Given the description of an element on the screen output the (x, y) to click on. 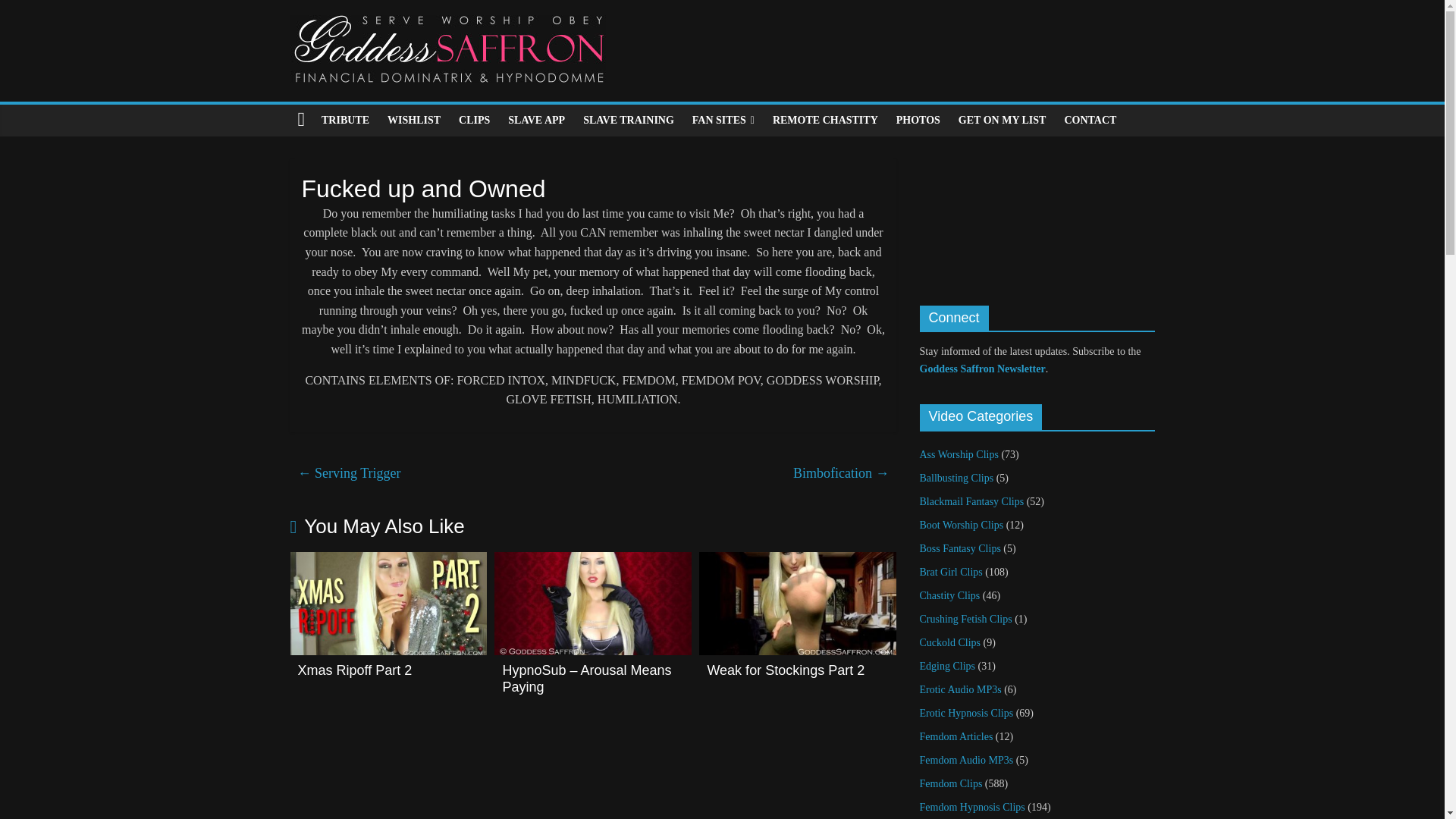
FAN SITES (722, 120)
Weak for Stockings Part 2 (785, 670)
PHOTOS (917, 120)
WISHLIST (413, 120)
SLAVE APP (536, 120)
REMOTE CHASTITY (824, 120)
CLIPS (474, 120)
Xmas Ripoff Part 2 (354, 670)
Xmas Ripoff Part 2 (387, 561)
GET ON MY LIST (1002, 120)
CONTACT (1089, 120)
TRIBUTE (345, 120)
SLAVE TRAINING (627, 120)
Weak for Stockings Part 2 (797, 561)
